Given the description of an element on the screen output the (x, y) to click on. 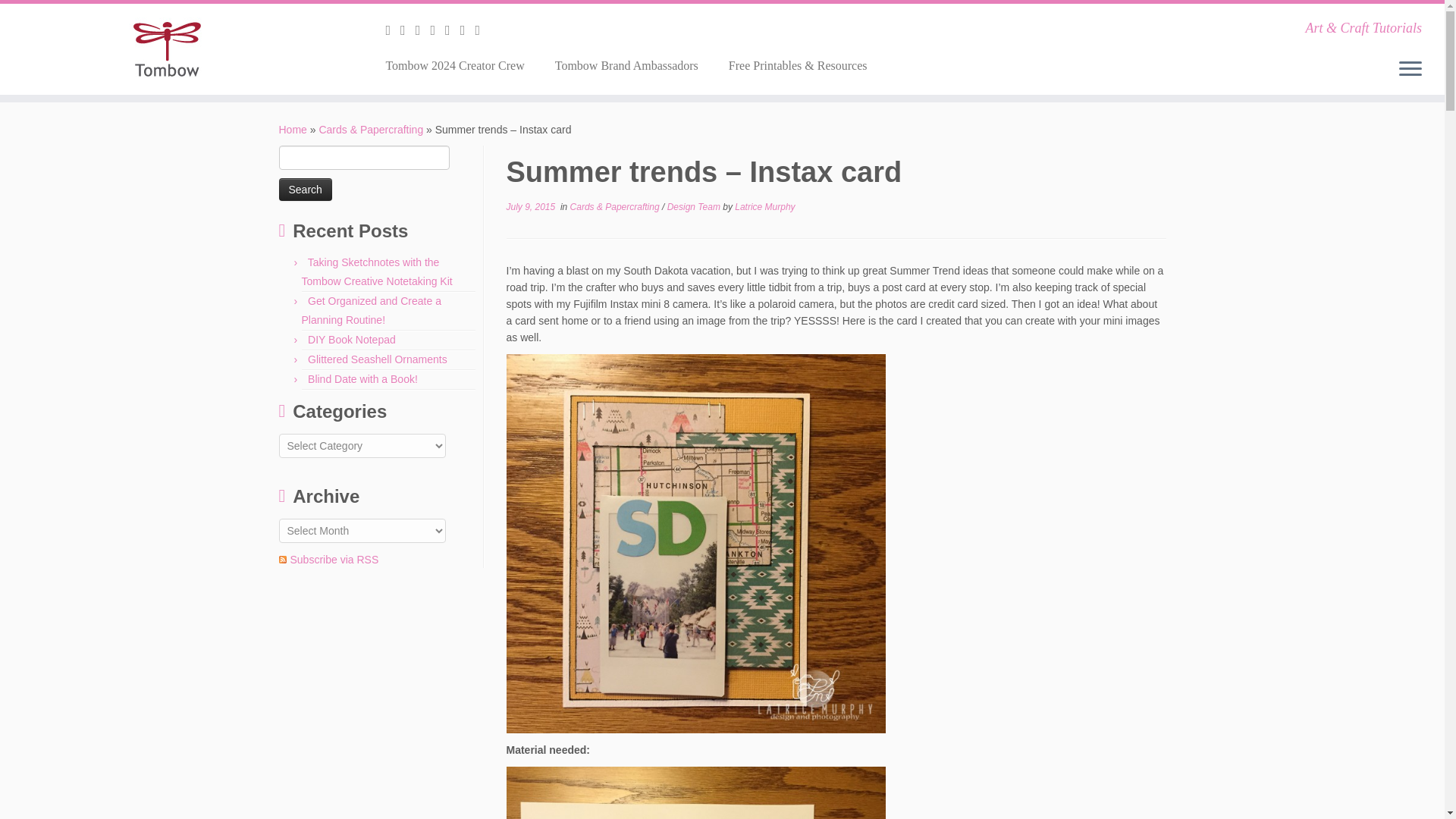
Latrice Murphy (764, 206)
Tombow 2024 Creator Crew (459, 65)
Tombow Brand Ambassadors (626, 65)
Follow me on Tumblr (452, 29)
Follow me on Twitter (407, 29)
Open the menu (1410, 69)
Follow me on Facebook (422, 29)
Pin me on Pinterest (481, 29)
E-mail (392, 29)
Taking Sketchnotes with the Tombow Creative Notetaking Kit (376, 271)
Blind Date with a Book! (362, 378)
DIY Book Notepad (351, 339)
Design Team (694, 206)
Follow me on Youtube (468, 29)
Follow me on Instagram (437, 29)
